Given the description of an element on the screen output the (x, y) to click on. 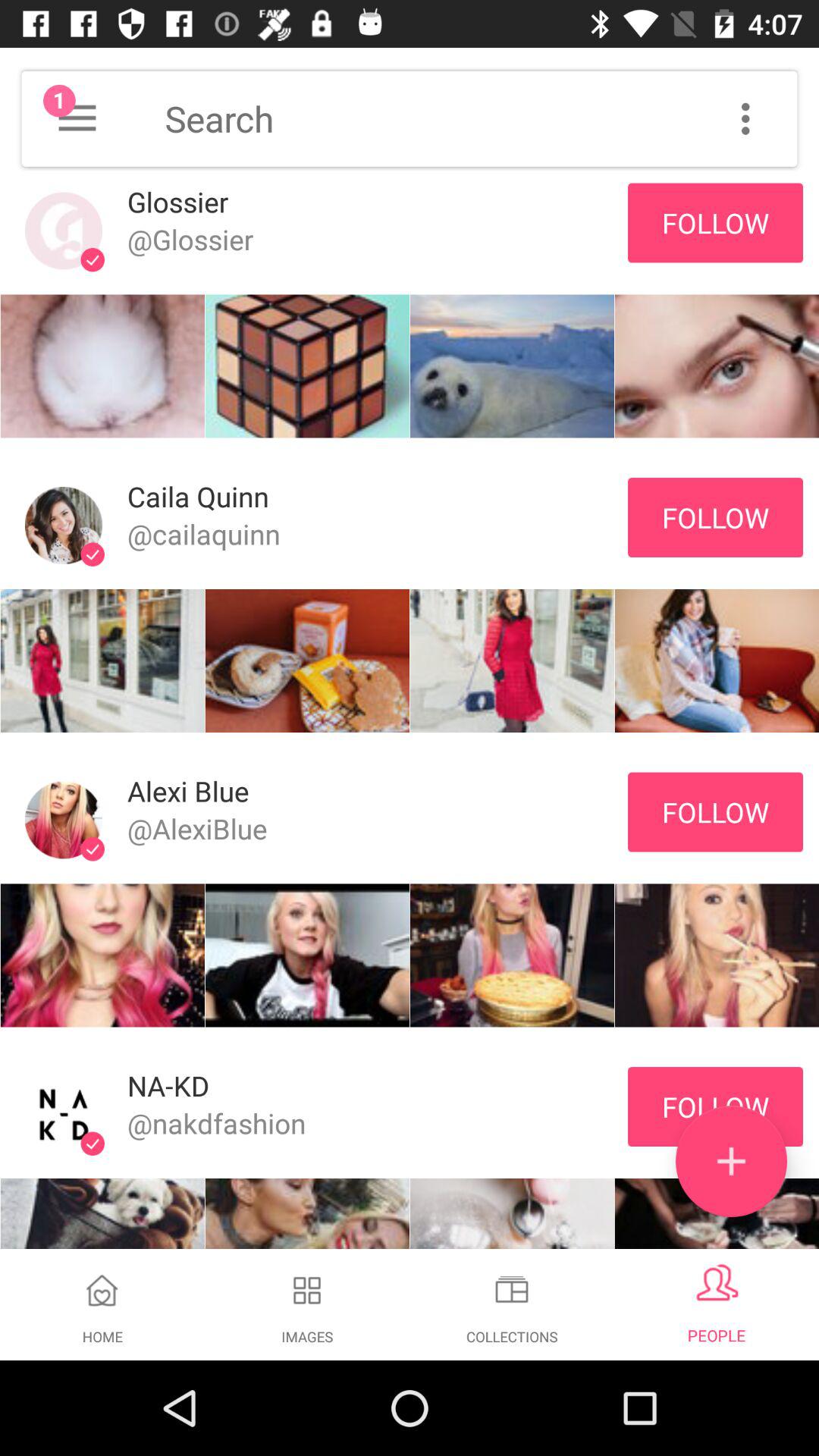
customization options (745, 118)
